Given the description of an element on the screen output the (x, y) to click on. 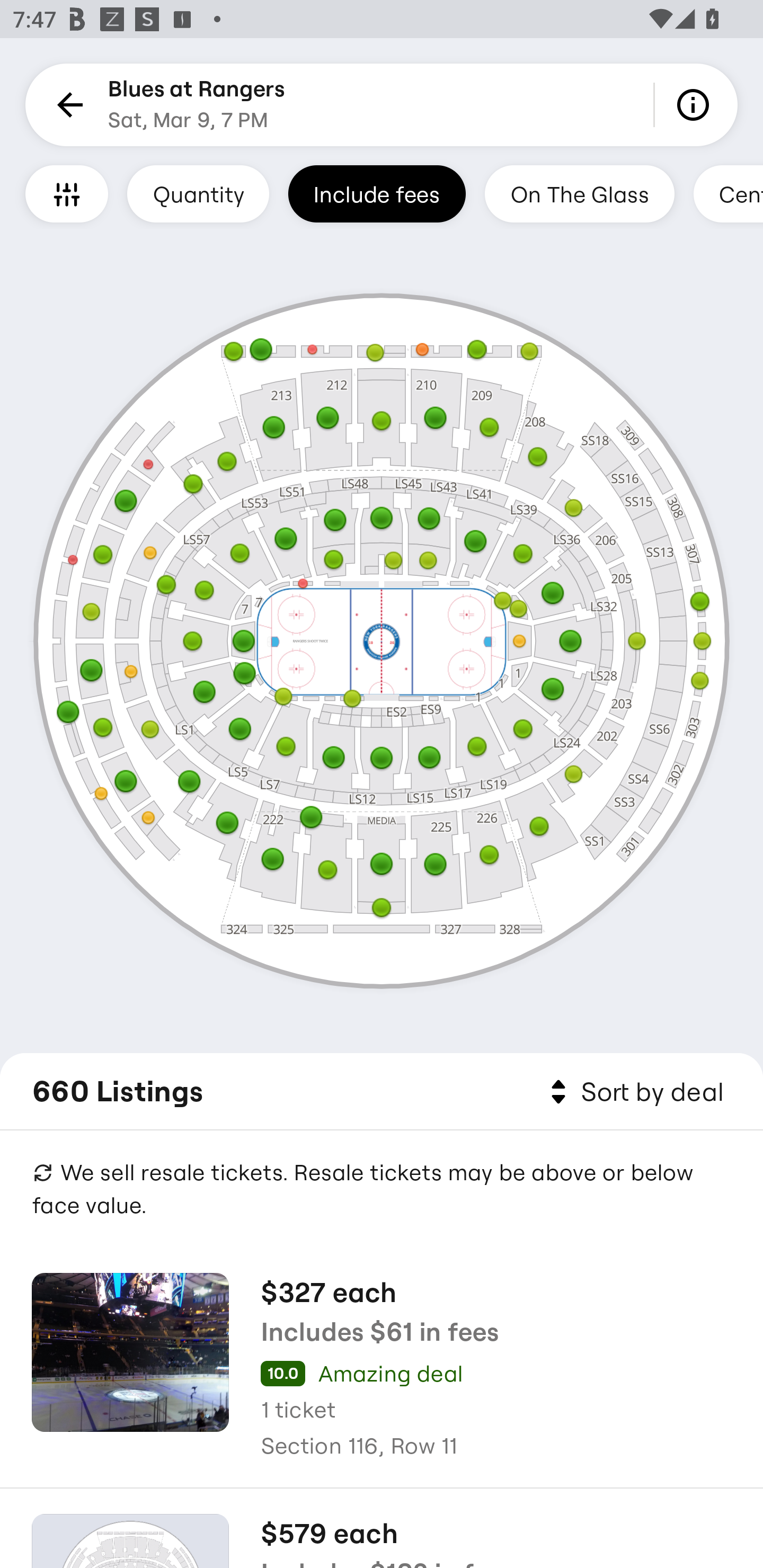
Back (66, 104)
Blues at Rangers Sat, Mar 9, 7 PM (196, 104)
Info (695, 104)
Filters and Accessible Seating (66, 193)
Quantity (198, 193)
Include fees (376, 193)
On The Glass (579, 193)
Sort by deal (633, 1091)
